Given the description of an element on the screen output the (x, y) to click on. 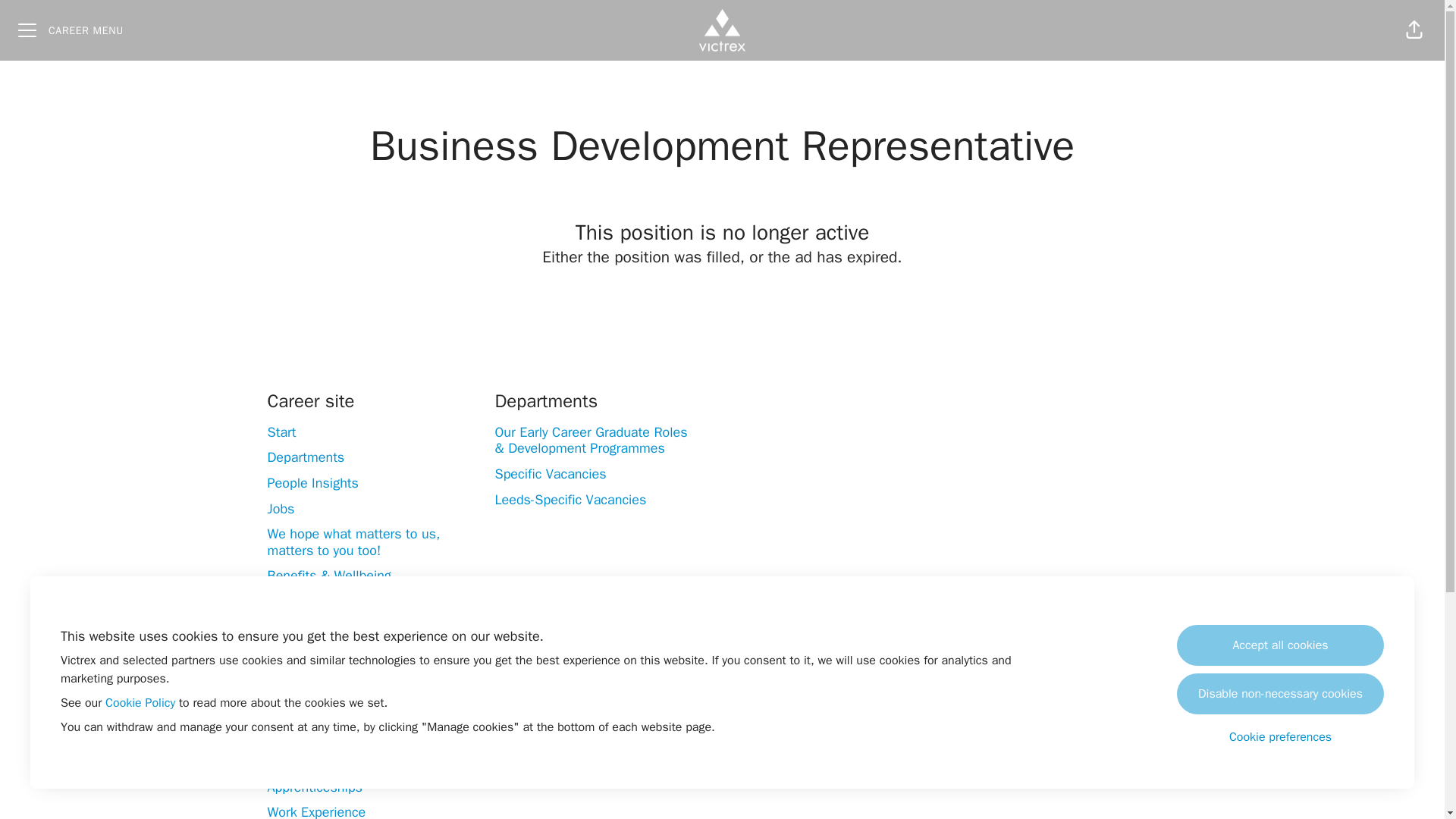
Career menu (70, 30)
Jobs (280, 508)
People Insights (312, 482)
Disable non-necessary cookies (1280, 693)
Cookie preferences (1280, 736)
Our people are at the core of our success! (364, 635)
Start (280, 431)
We hope what matters to us, matters to you too! (352, 541)
Cookie Policy (139, 702)
Departments (304, 456)
Share page (1414, 30)
CAREER MENU (70, 30)
Living in The Fylde (320, 600)
Accept all cookies (1280, 644)
Find Out More About Victrex (349, 668)
